Given the description of an element on the screen output the (x, y) to click on. 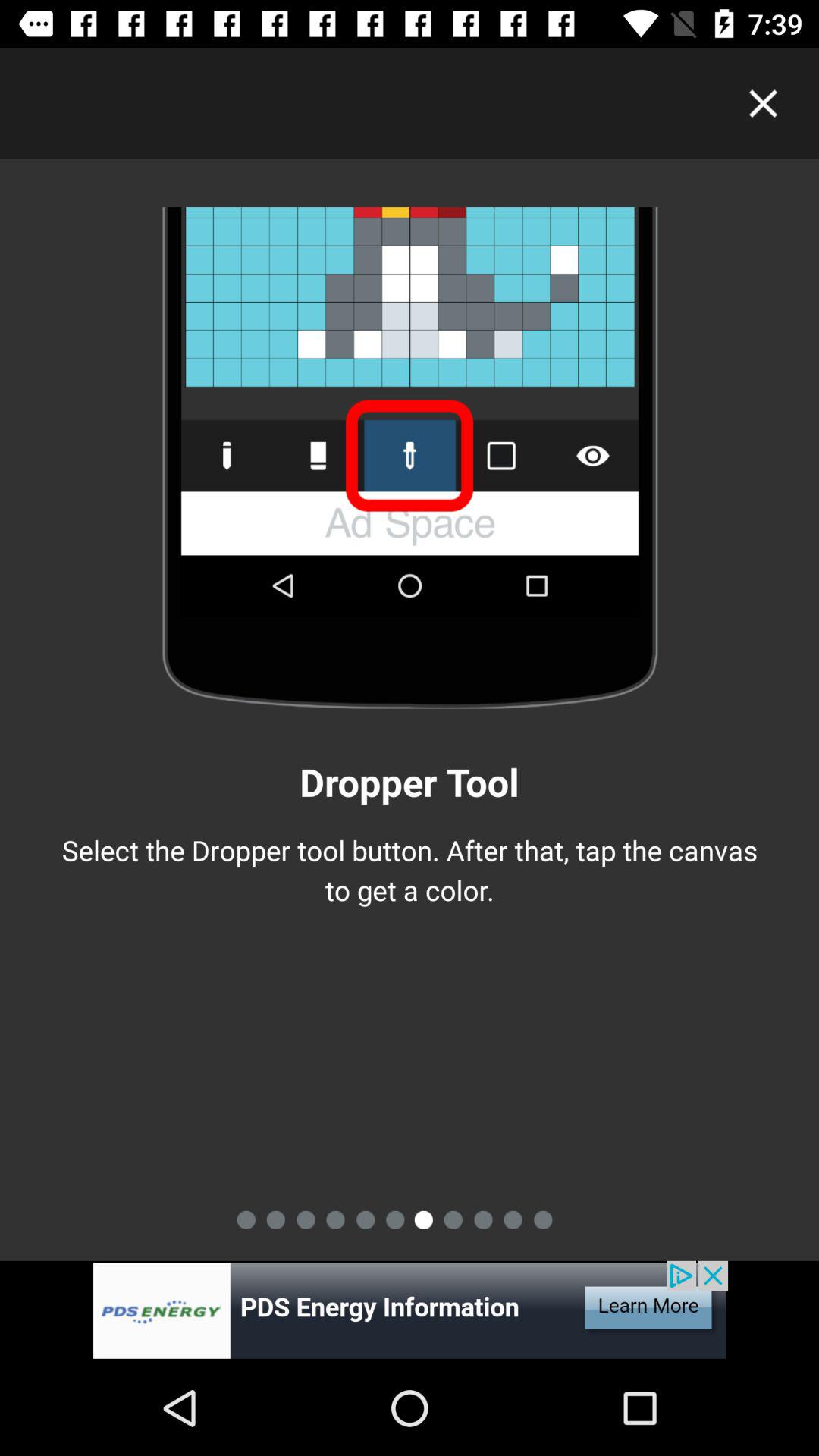
close window (763, 103)
